Given the description of an element on the screen output the (x, y) to click on. 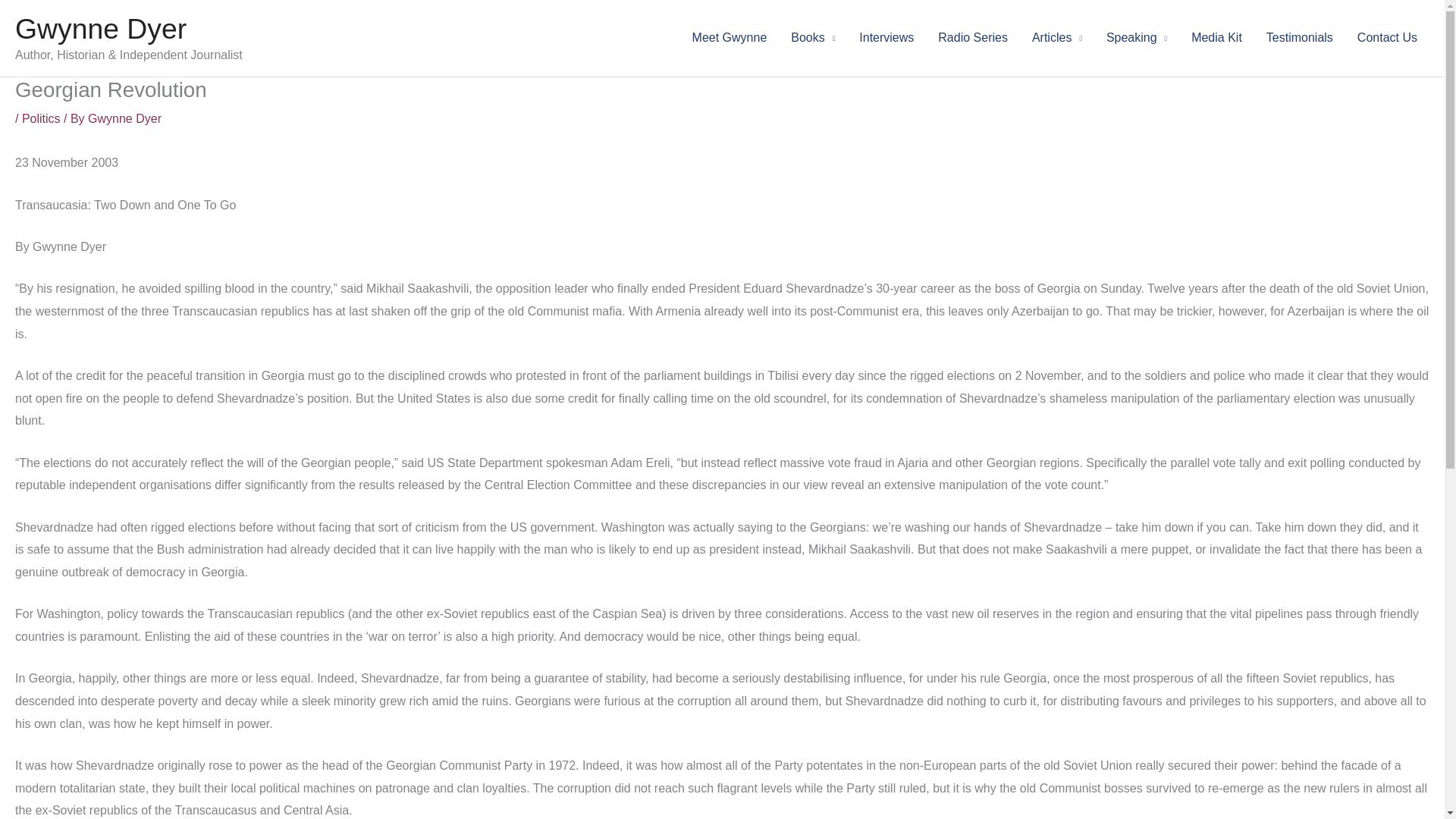
Politics (41, 118)
Media Kit (1216, 38)
Interviews (886, 38)
Meet Gwynne (728, 38)
Testimonials (1299, 38)
Contact Us (1387, 38)
Gwynne Dyer (124, 118)
Gwynne Dyer (100, 29)
Books (812, 38)
View all posts by Gwynne Dyer (124, 118)
Articles (1057, 38)
Speaking (1136, 38)
Radio Series (973, 38)
